Given the description of an element on the screen output the (x, y) to click on. 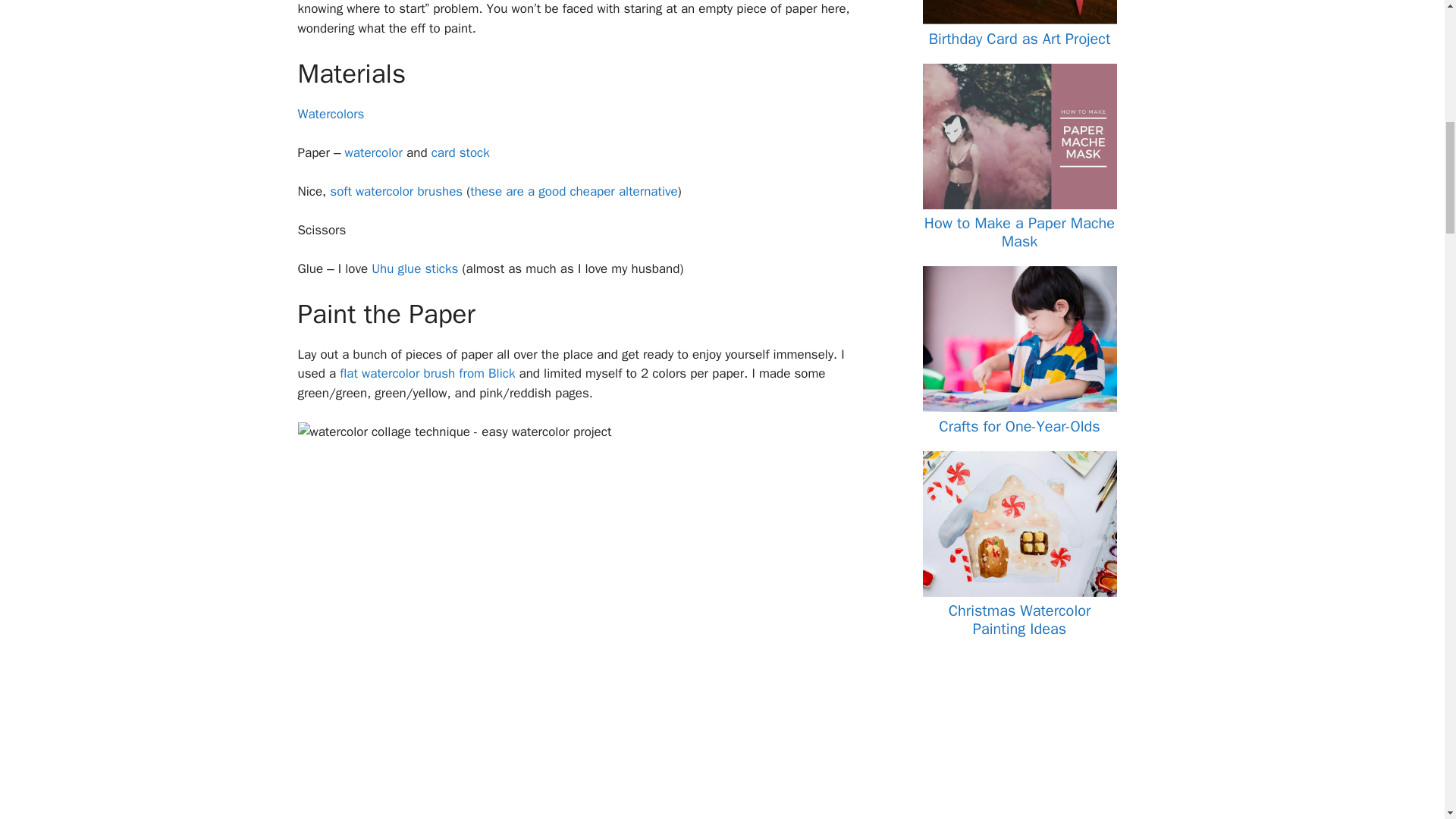
Christmas Watercolor Painting Ideas (1018, 592)
How to Make a Paper Mache Mask (1019, 231)
Birthday Card as Art Project (1018, 19)
Birthday Card as Art Project (1019, 38)
How to Make a Paper Mache Mask (1018, 204)
Christmas Watercolor Painting Ideas (1019, 619)
Crafts for One-Year-Olds (1019, 425)
Crafts for One-Year-Olds (1018, 407)
